Given the description of an element on the screen output the (x, y) to click on. 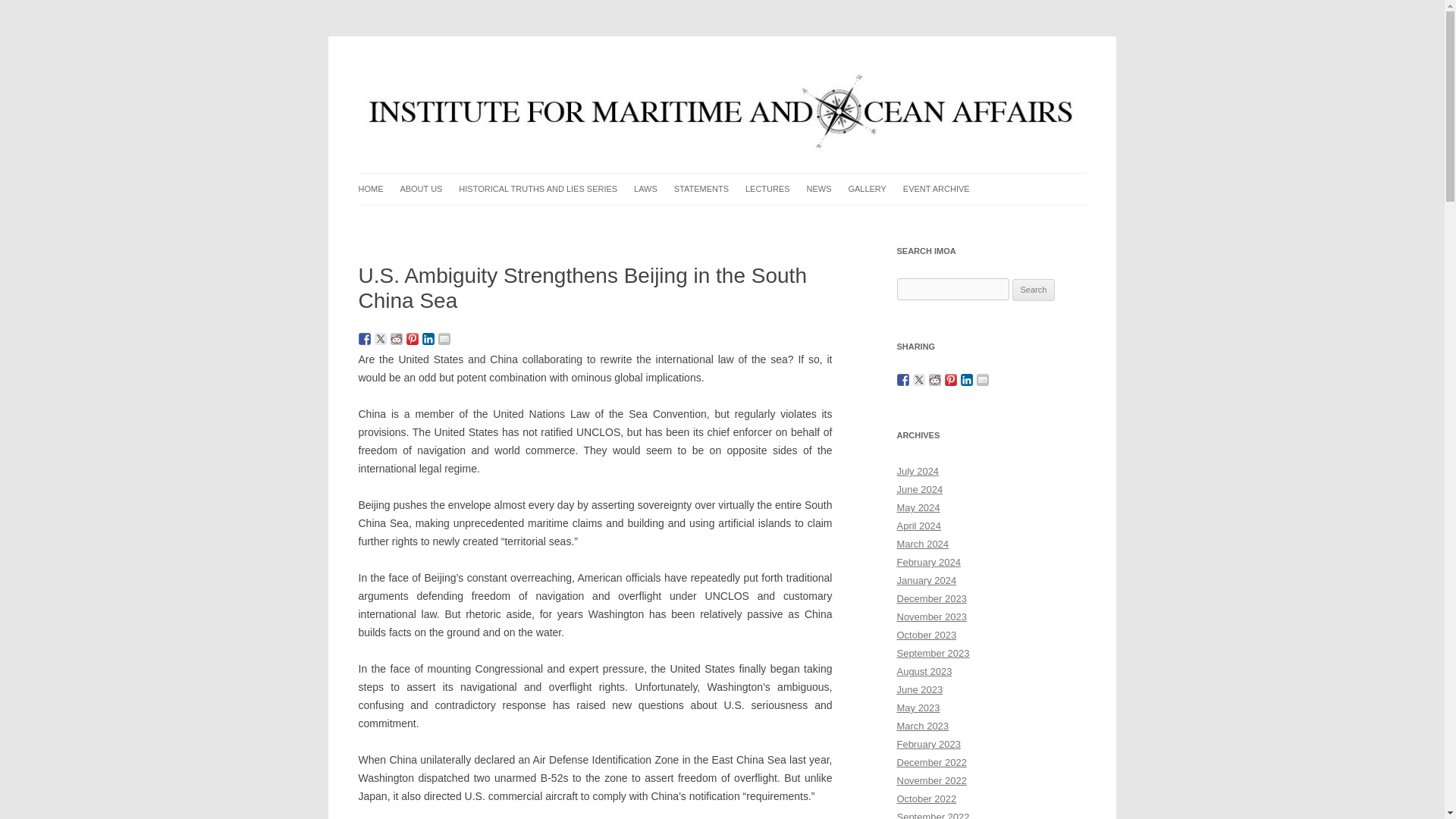
Institute for Maritime and Ocean Affairs (542, 72)
RELEVANT PHILIPPINE LAWS (709, 219)
Relevant Philippine Laws (709, 219)
HISTORICAL TRUTHS AND LIES SERIES (537, 188)
Share on Linkedin (427, 338)
Institute for Maritime and Ocean Affairs (542, 72)
Skip to content (757, 177)
Skip to content (757, 177)
Pin it with Pinterest (412, 338)
Share on Reddit (395, 338)
